Given the description of an element on the screen output the (x, y) to click on. 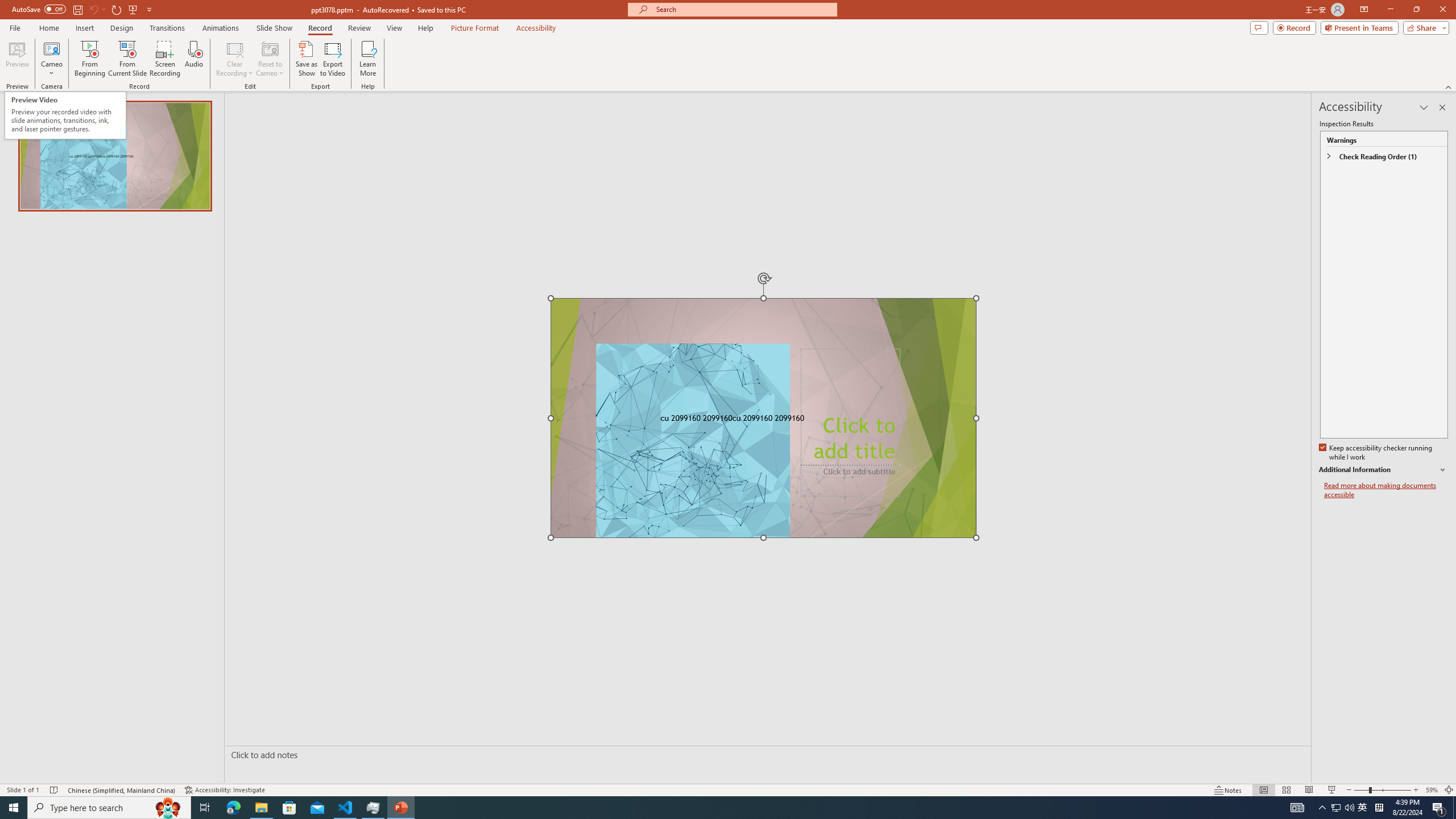
Clear Recording (234, 58)
Learn More (368, 58)
